Given the description of an element on the screen output the (x, y) to click on. 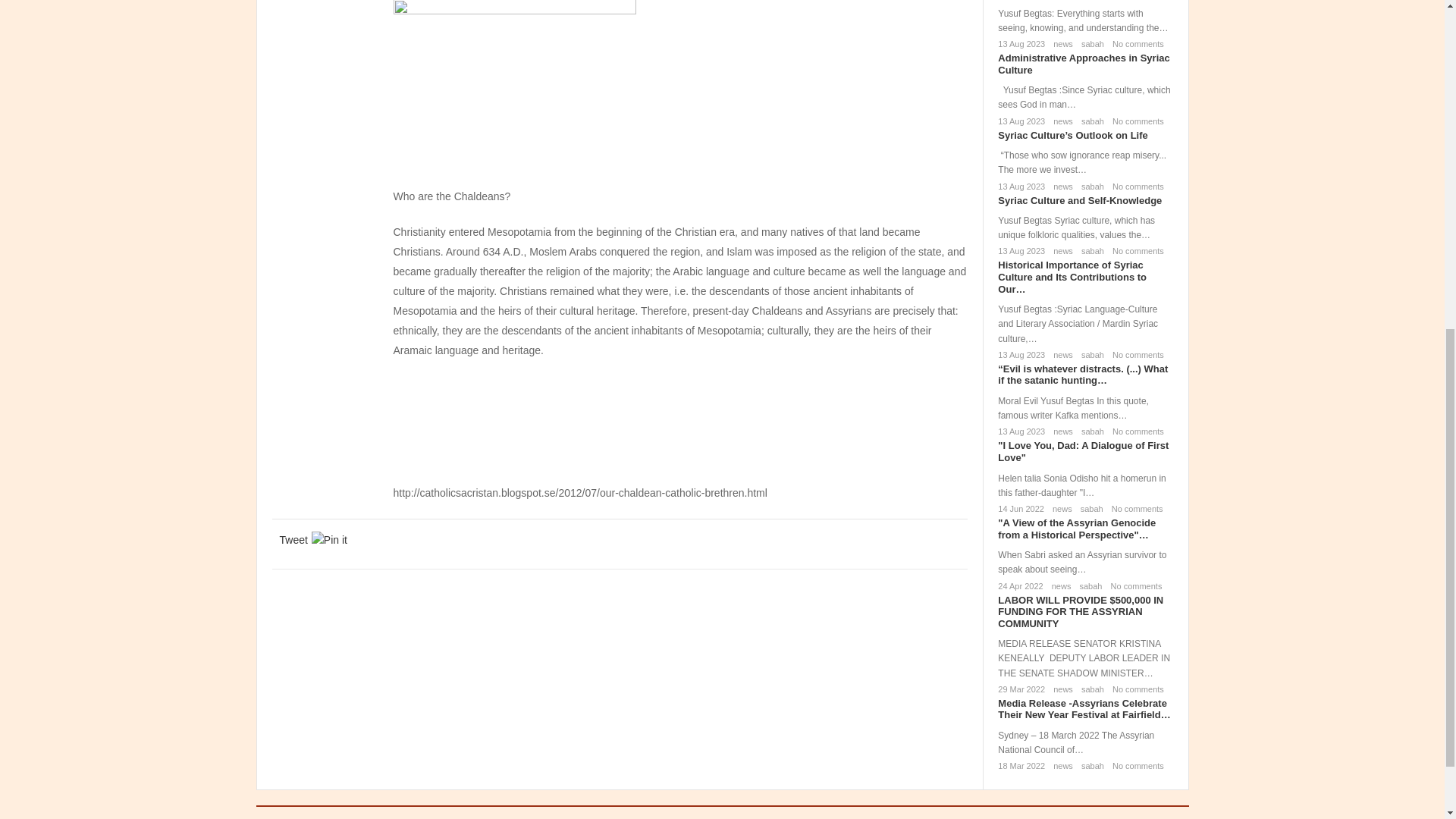
Pin it (329, 539)
Administrative Approaches in Syriac Culture (1083, 64)
Tweet (293, 539)
